Given the description of an element on the screen output the (x, y) to click on. 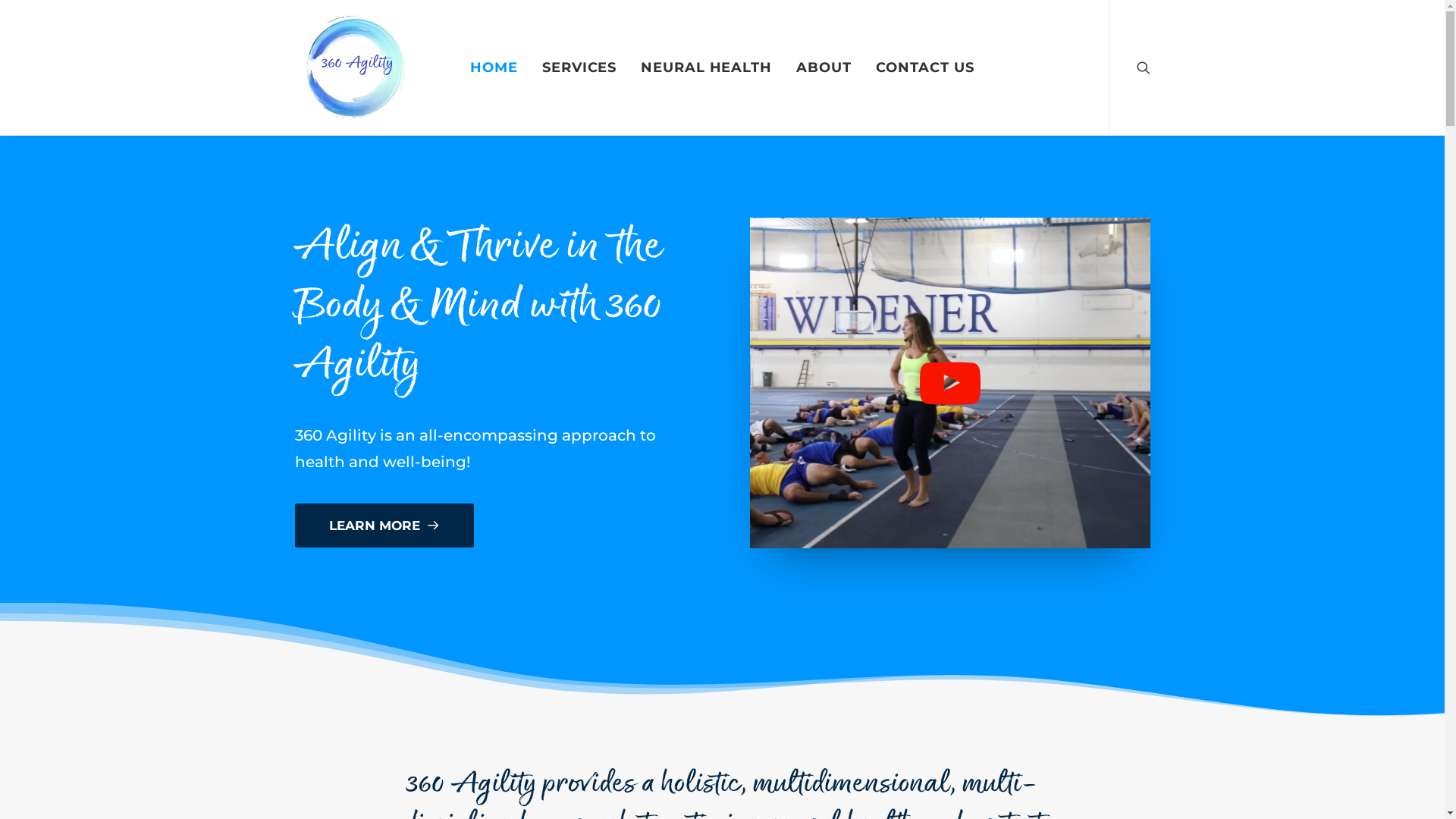
CONTACT US Element type: text (924, 67)
ABOUT Element type: text (823, 67)
NEURAL HEALTH Element type: text (706, 67)
HOME Element type: text (493, 67)
SERVICES Element type: text (579, 67)
LEARN MORE Element type: text (383, 525)
